Given the description of an element on the screen output the (x, y) to click on. 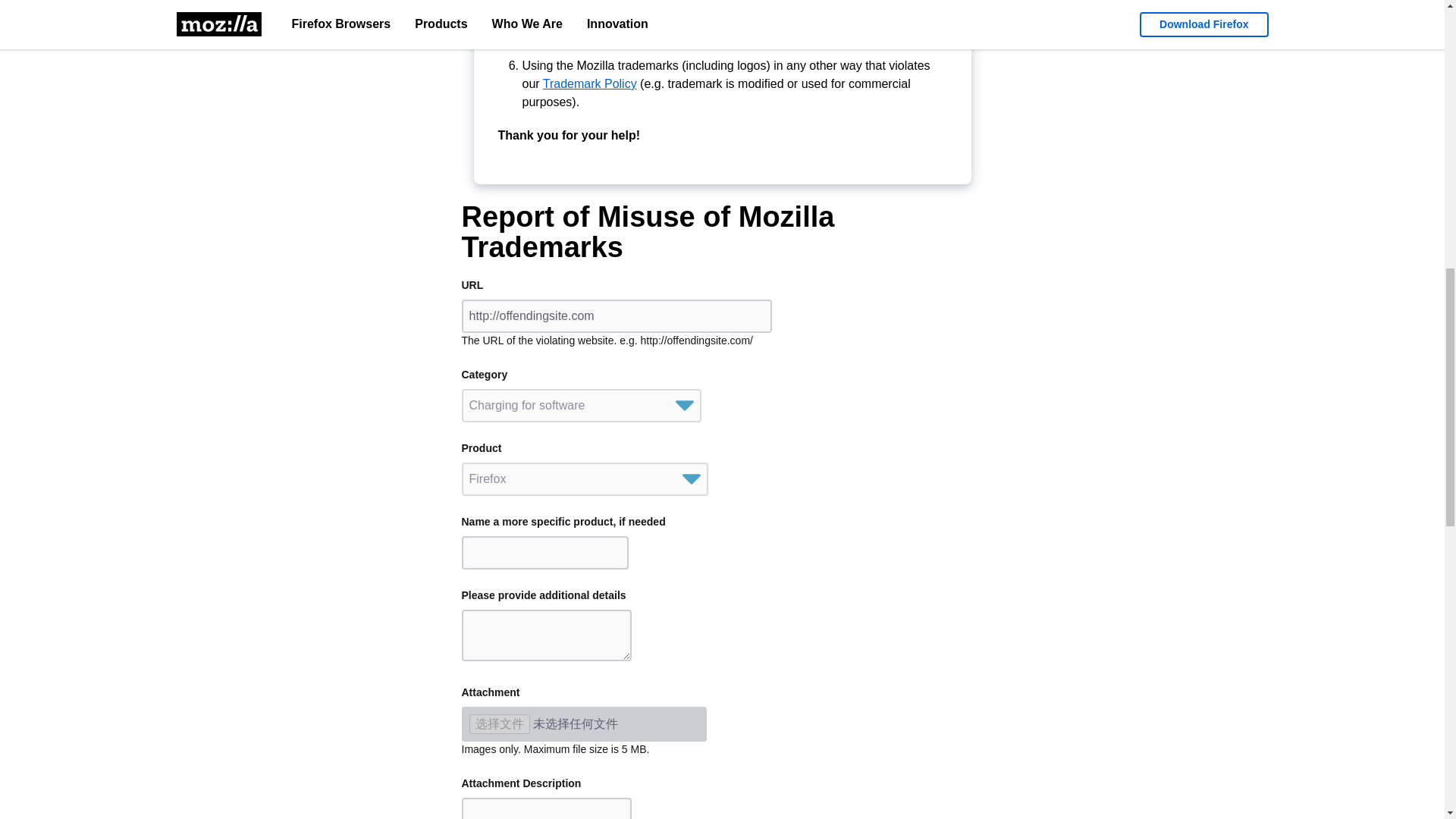
Product (584, 479)
Category (580, 405)
